Given the description of an element on the screen output the (x, y) to click on. 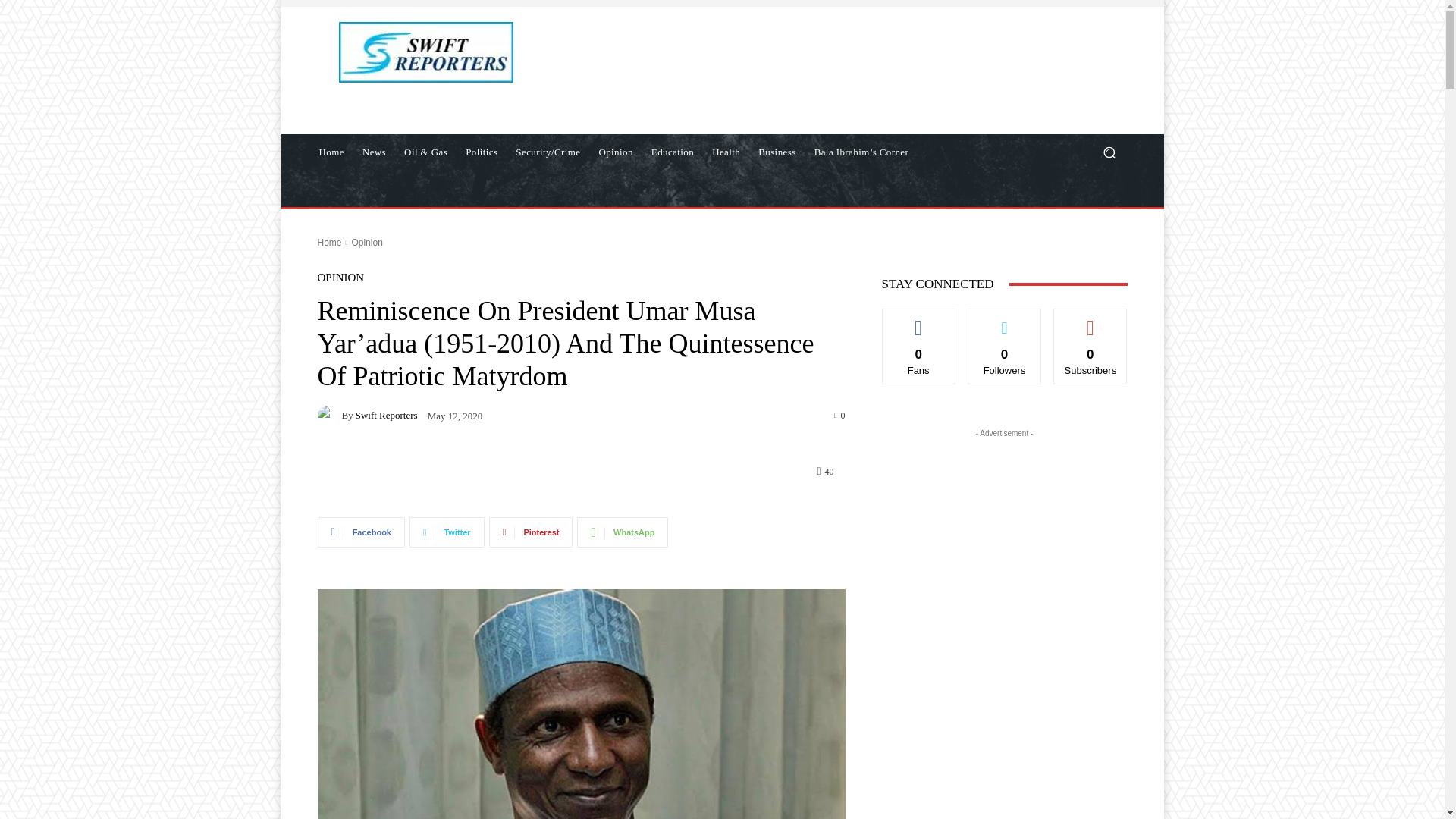
Opinion (615, 152)
images-1 (580, 703)
WhatsApp (622, 531)
Twitter (446, 531)
Home (328, 242)
News (373, 152)
Pinterest (531, 531)
Business (777, 152)
Politics (481, 152)
Advertisement (865, 70)
Home (330, 152)
Education (672, 152)
Opinion (365, 242)
View all posts in Opinion (365, 242)
Health (726, 152)
